Given the description of an element on the screen output the (x, y) to click on. 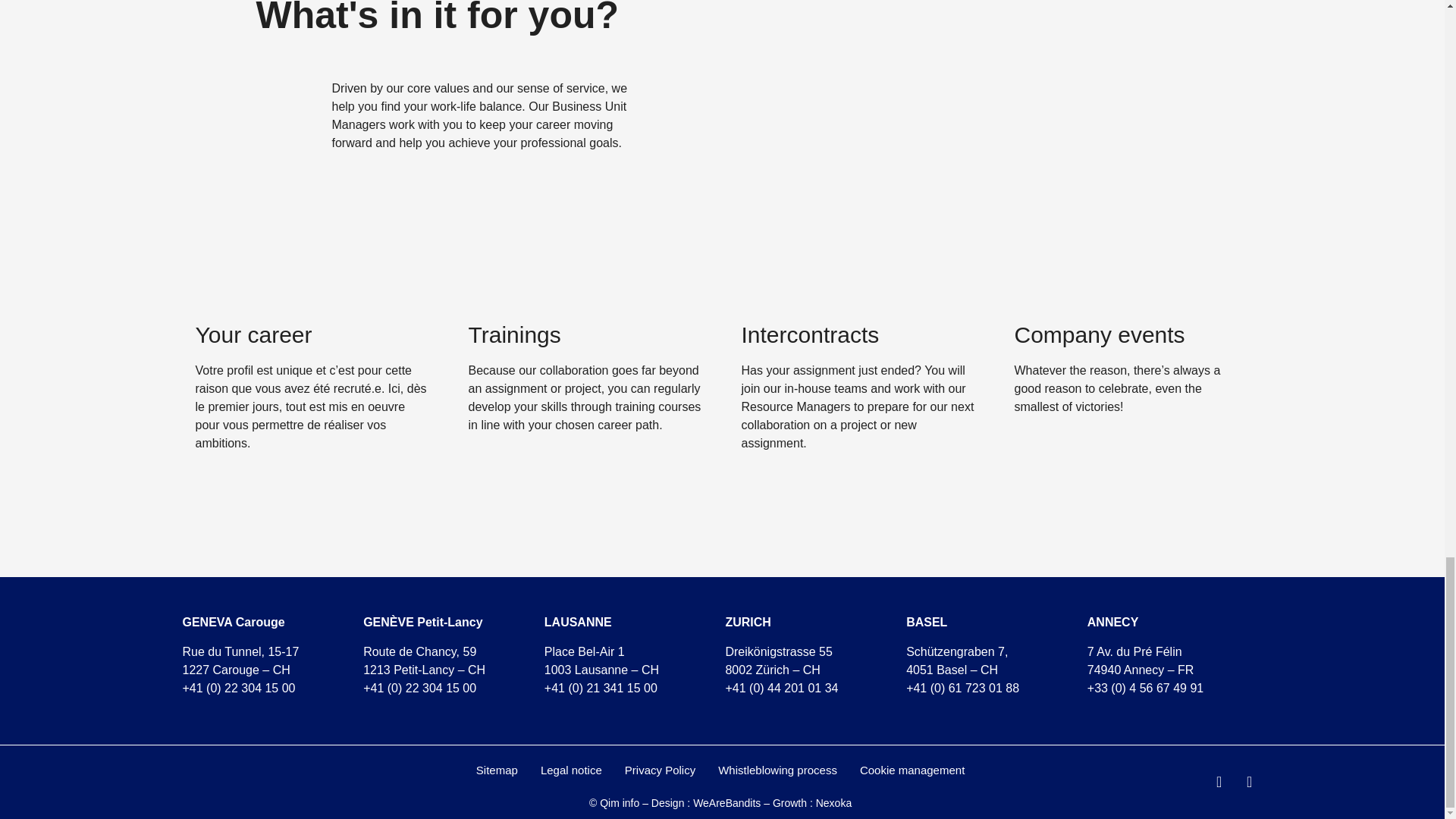
Cookie management (911, 769)
Legal notice (570, 769)
Whistleblowing process (777, 769)
Sitemap (496, 769)
Privacy Policy (659, 769)
